Given the description of an element on the screen output the (x, y) to click on. 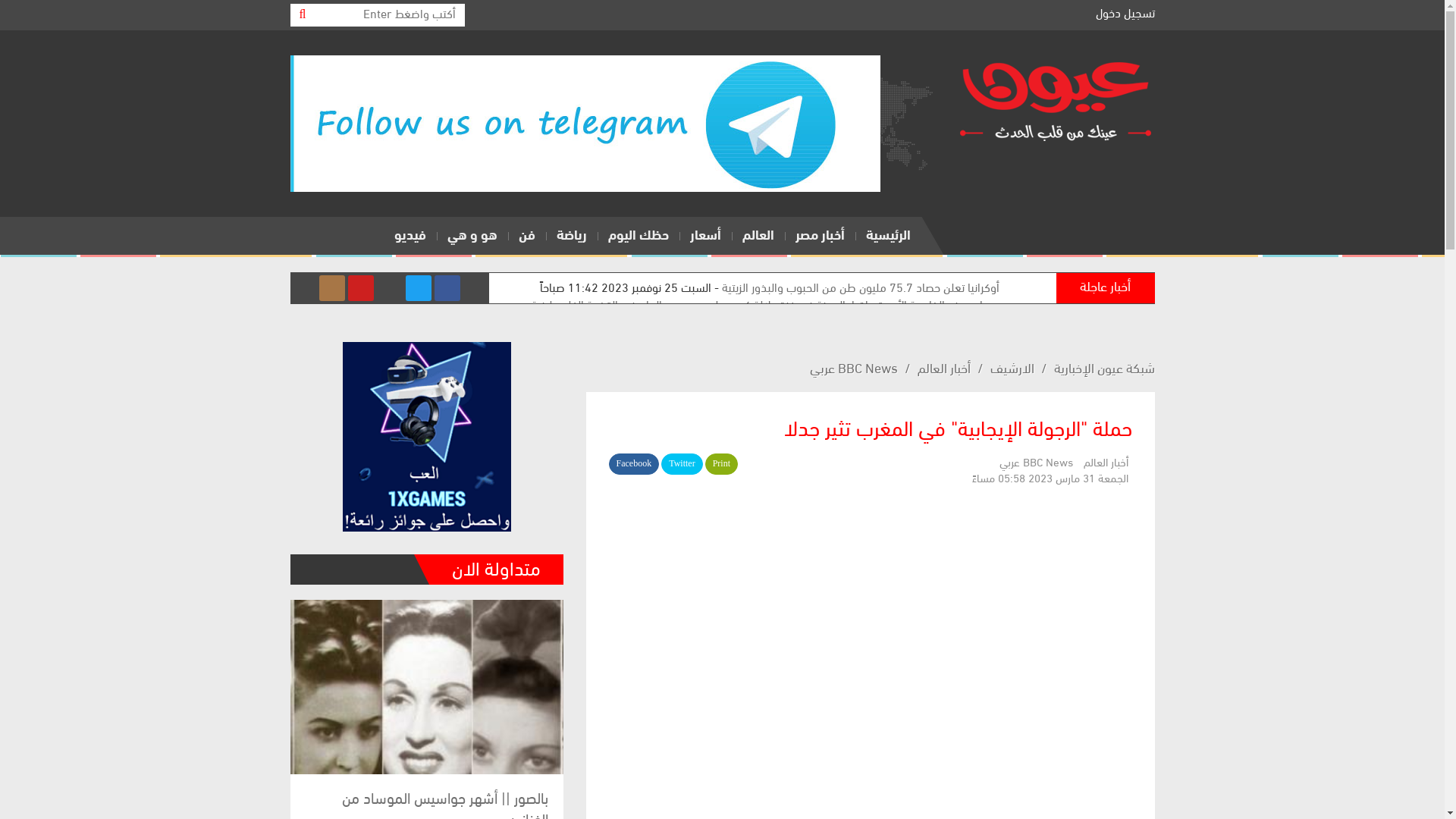
Twitter Element type: text (681, 463)
Facebook Element type: text (633, 463)
Telegram Element type: hover (389, 288)
Print Element type: text (721, 463)
